Given the description of an element on the screen output the (x, y) to click on. 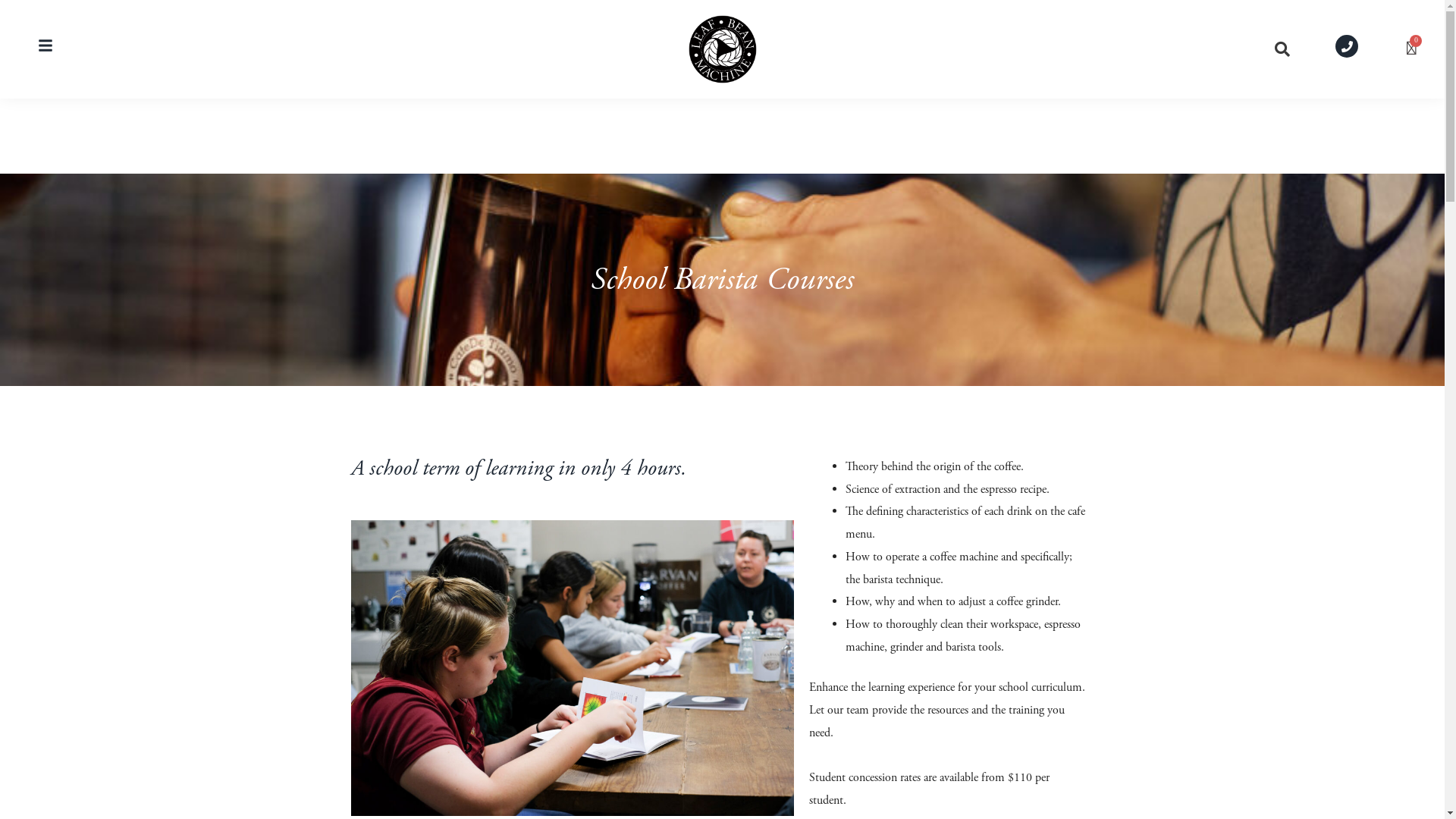
Search Element type: hover (1278, 49)
Cart Element type: text (1411, 48)
Phone Element type: text (1346, 45)
